Given the description of an element on the screen output the (x, y) to click on. 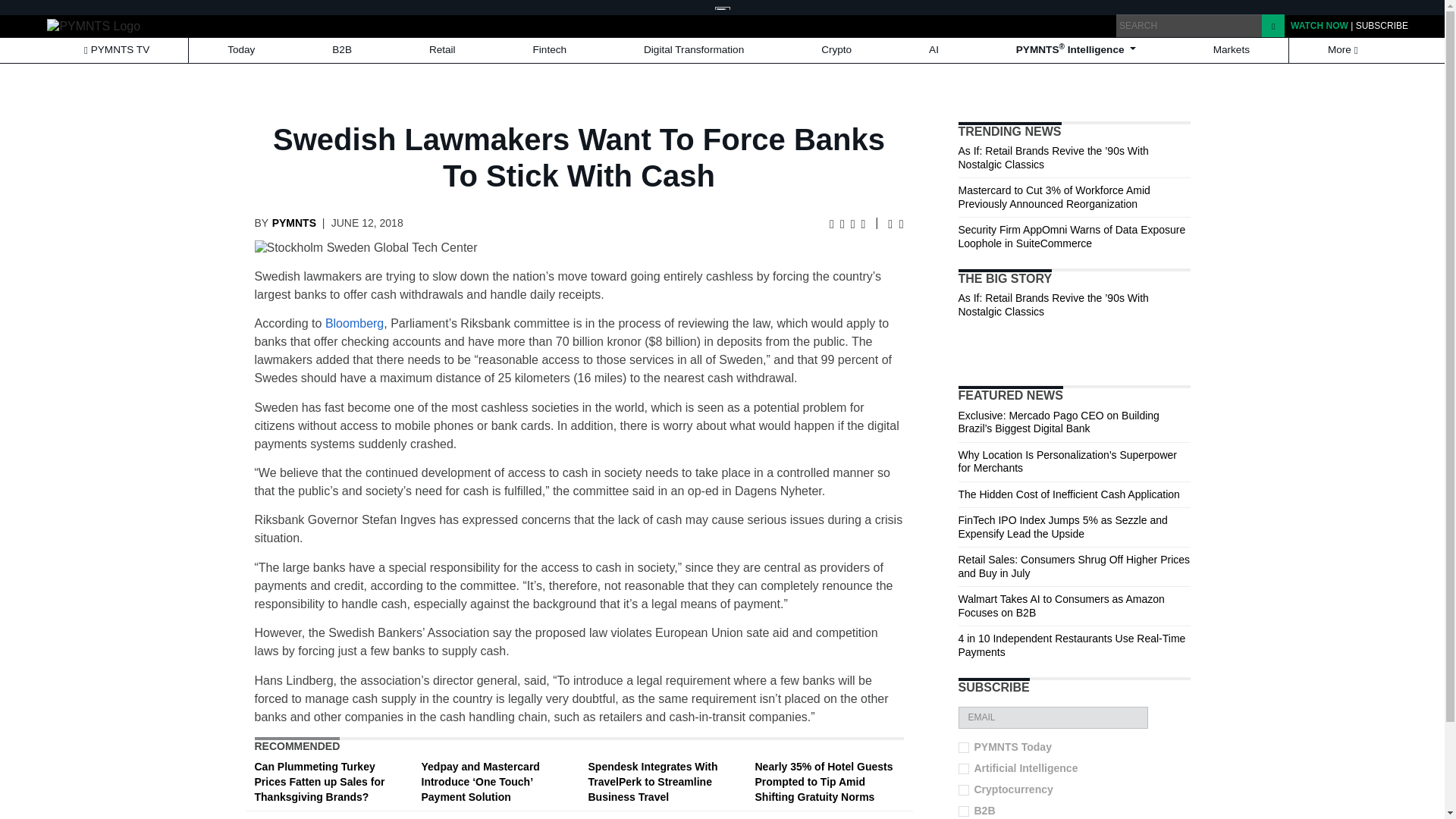
1 (963, 810)
Posts by PYMNTS (293, 223)
Retail (442, 50)
Today (241, 50)
Fintech (550, 50)
1 (963, 789)
WATCH NOW (1319, 25)
1 (963, 768)
